Given the description of an element on the screen output the (x, y) to click on. 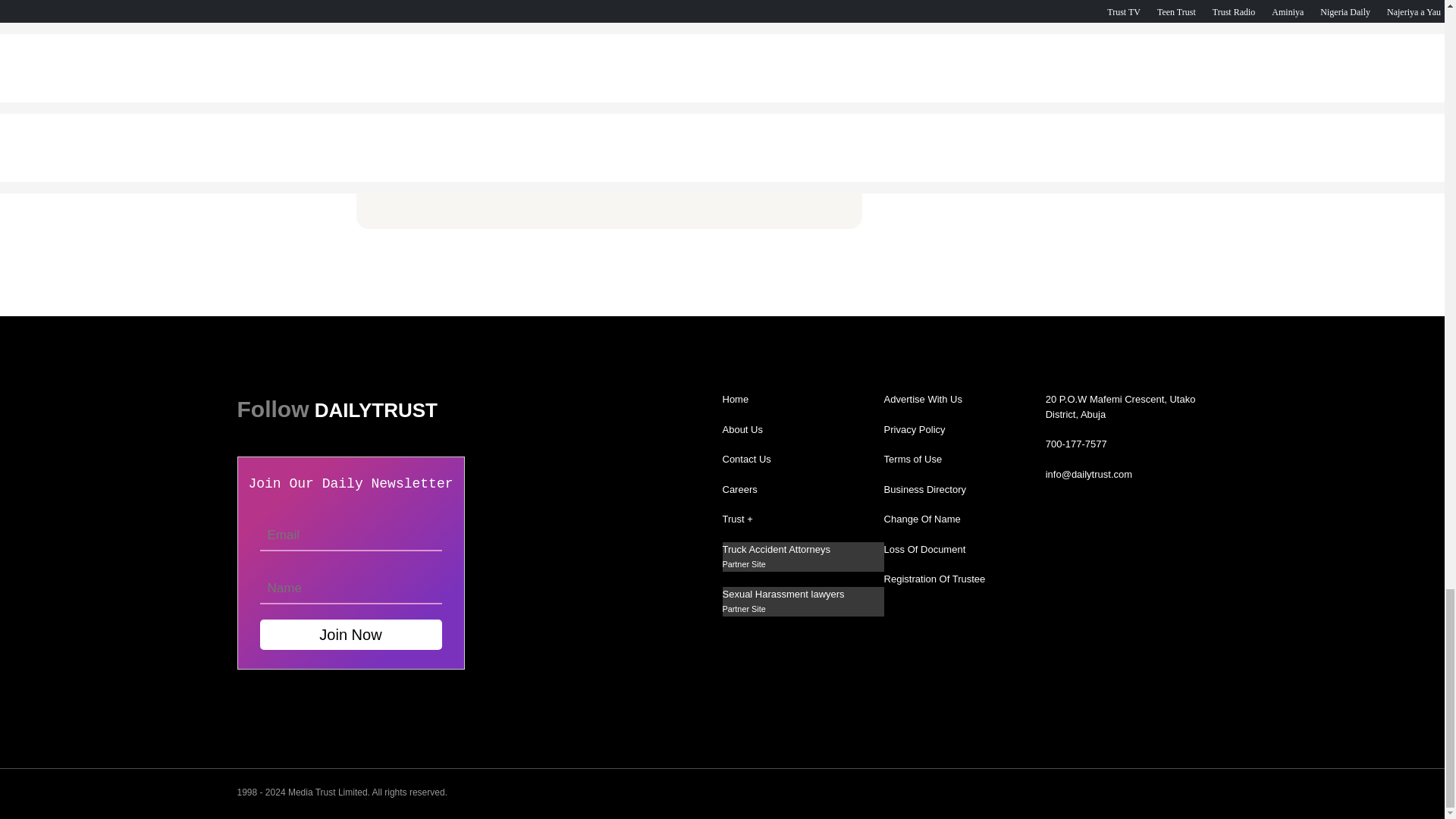
Join Now (350, 634)
